Given the description of an element on the screen output the (x, y) to click on. 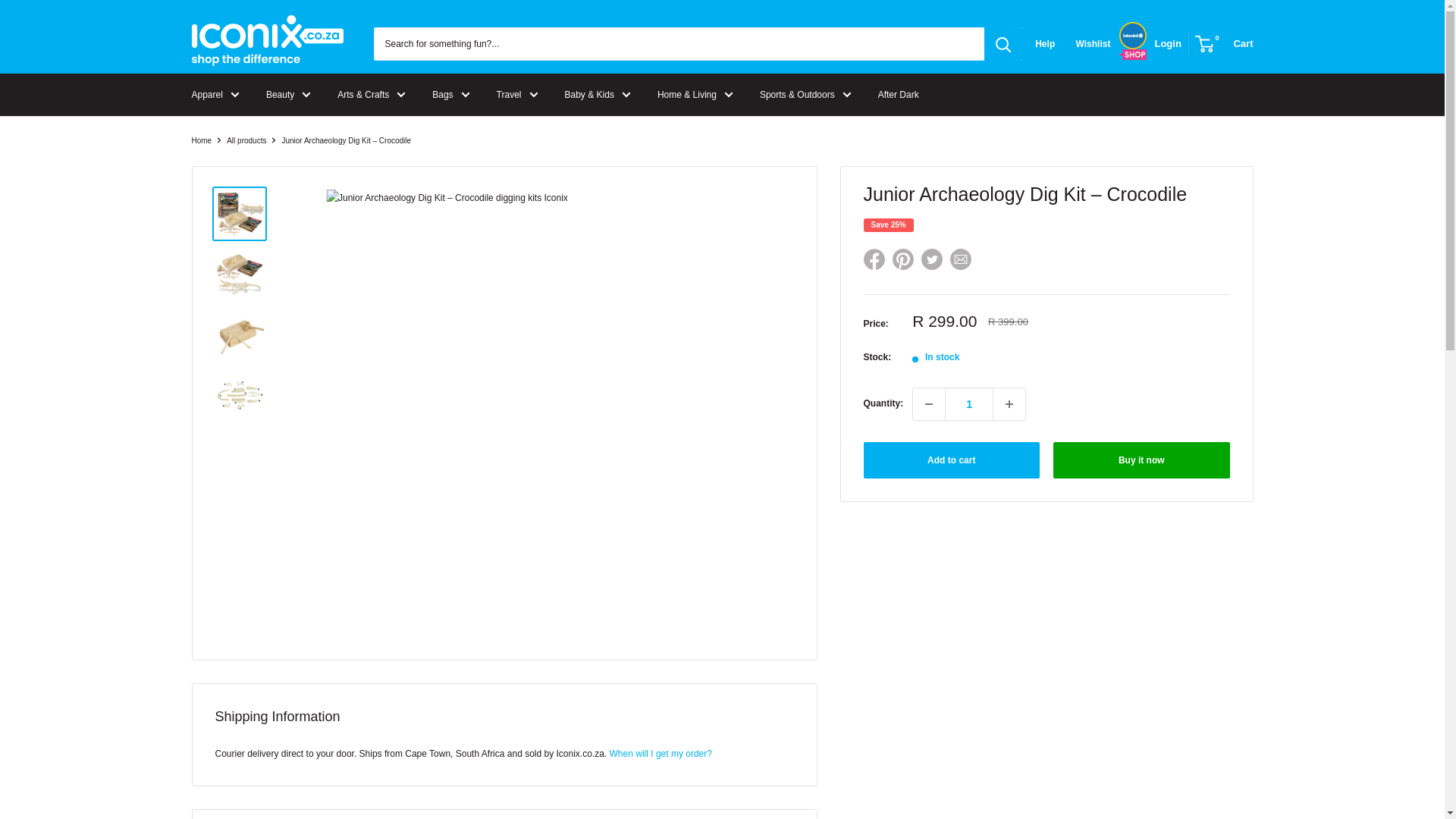
Increase quantity by 1 (1008, 404)
1 (968, 404)
Shipping Information (660, 753)
Go to your wishlist (1093, 43)
Decrease quantity by 1 (928, 404)
